Given the description of an element on the screen output the (x, y) to click on. 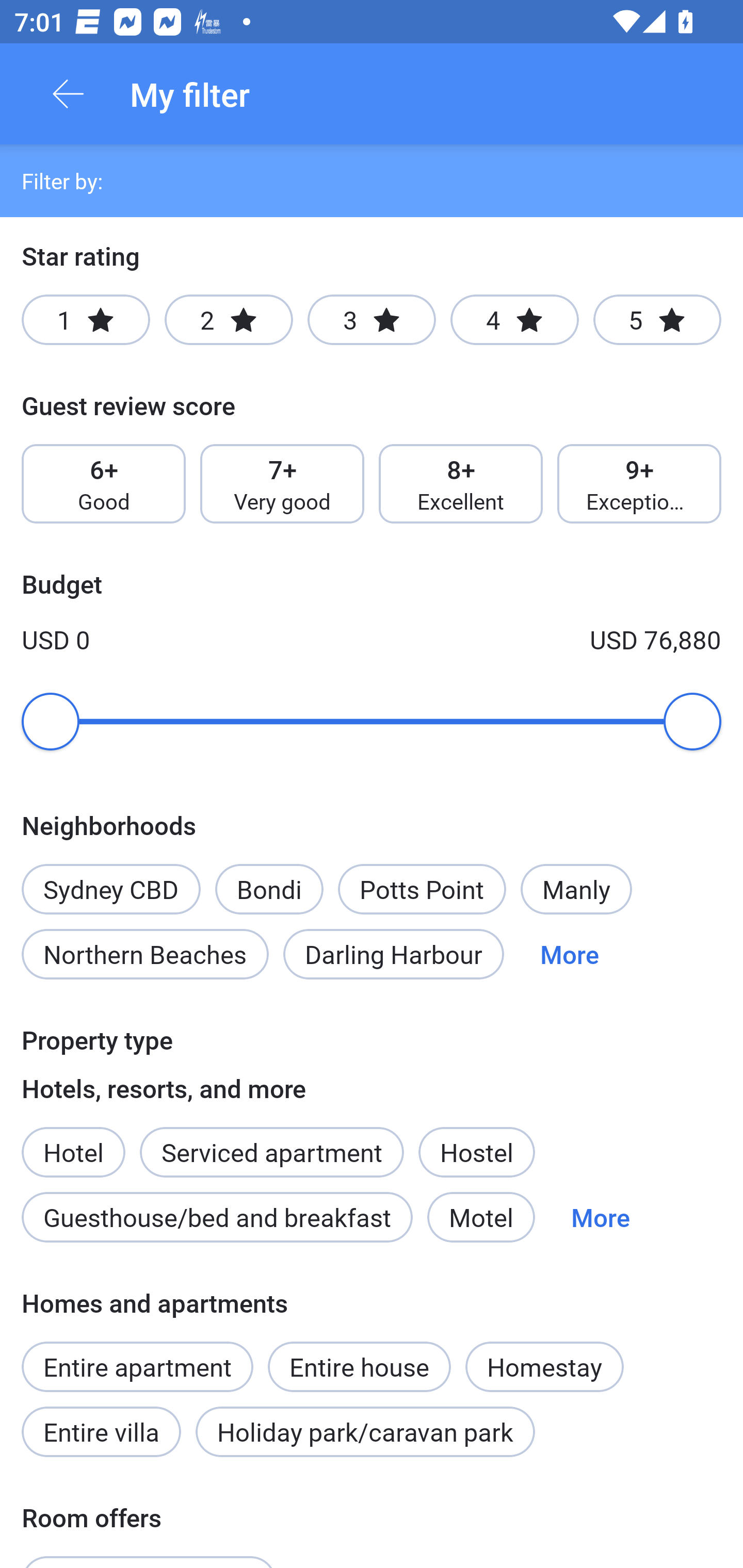
1 (85, 319)
2 (228, 319)
3 (371, 319)
4 (514, 319)
5 (657, 319)
6+ Good (103, 483)
7+ Very good (281, 483)
8+ Excellent (460, 483)
9+ Exceptional (639, 483)
Sydney CBD (110, 878)
Bondi (269, 888)
Potts Point (421, 888)
Manly (576, 888)
Northern Beaches (144, 954)
Darling Harbour (393, 954)
More (569, 954)
Hotel (73, 1141)
Serviced apartment (271, 1141)
Hostel (476, 1151)
Guesthouse/bed and breakfast (217, 1217)
Motel (480, 1217)
More (600, 1217)
Entire apartment (137, 1366)
Entire house (359, 1356)
Homestay (544, 1366)
Entire villa (101, 1432)
Holiday park/caravan park (364, 1432)
